Given the description of an element on the screen output the (x, y) to click on. 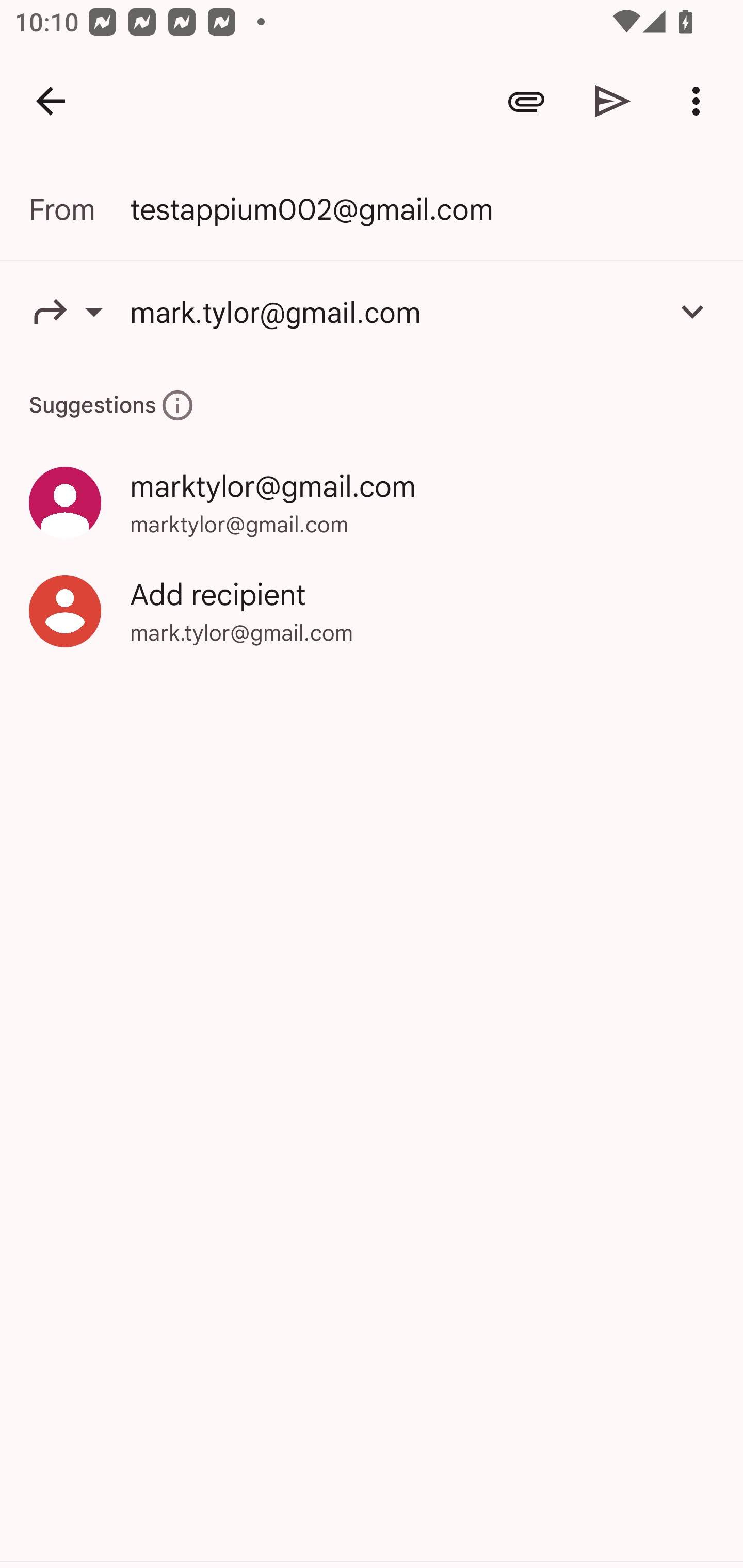
Navigate up (50, 101)
Attach file (525, 101)
Send (612, 101)
More options (699, 101)
From (79, 209)
Forward (79, 311)
Add Cc/Bcc (692, 311)
mark.tylor@gmail.com (393, 311)
Add recipient mark.tylor@gmail.com (371, 610)
